Given the description of an element on the screen output the (x, y) to click on. 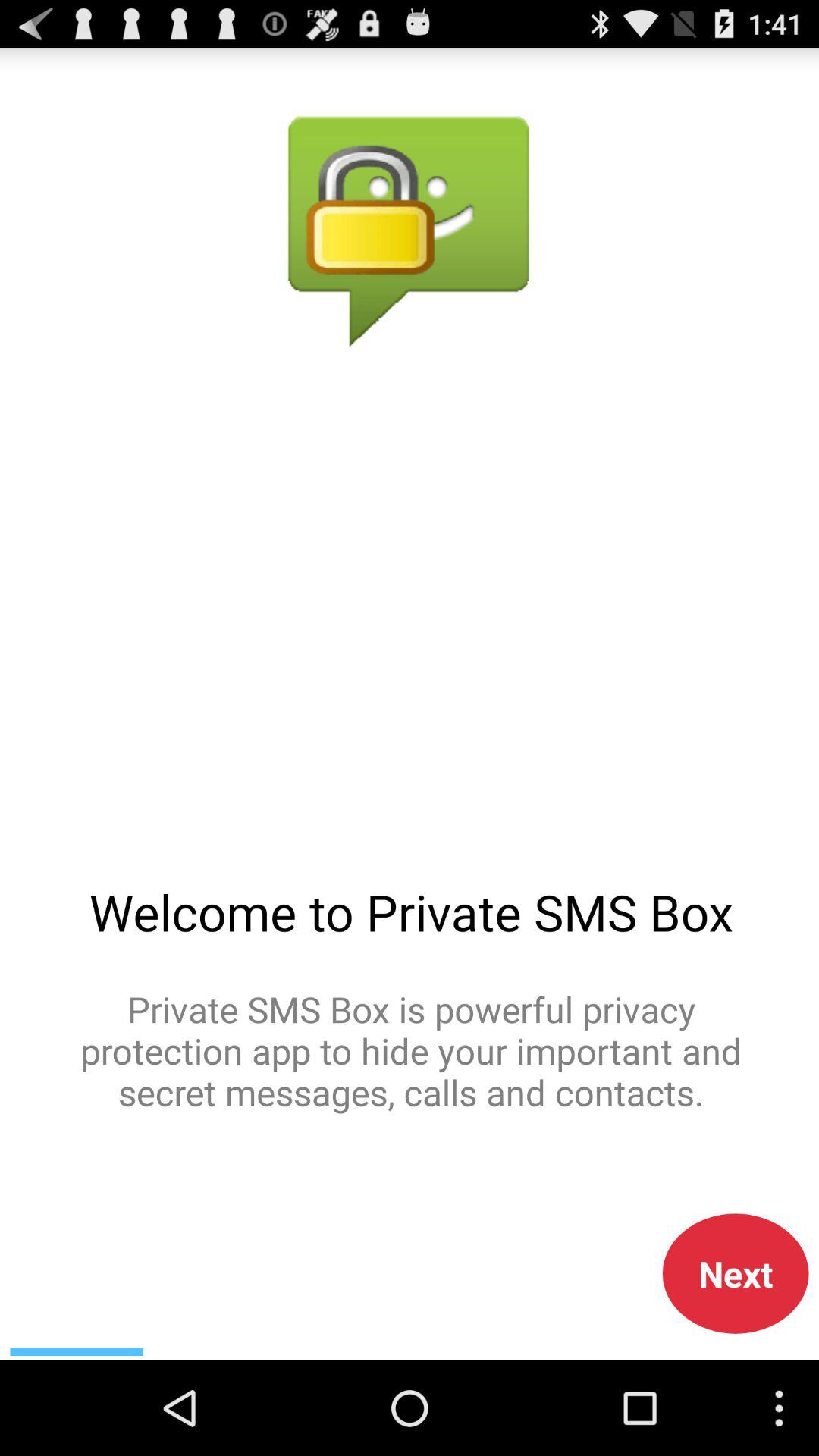
choose the next icon (735, 1273)
